Given the description of an element on the screen output the (x, y) to click on. 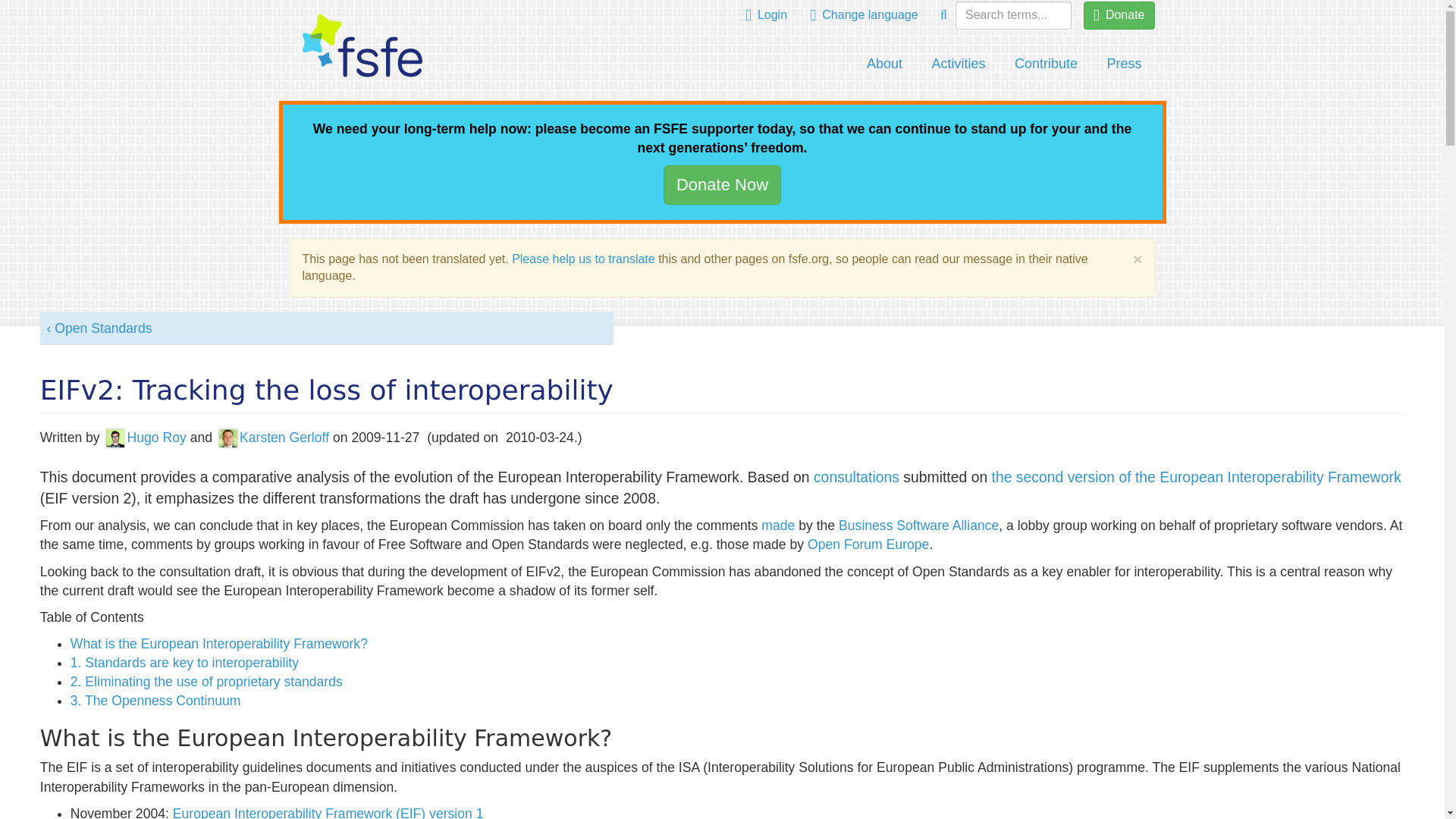
Karsten Gerloff (272, 436)
2. Eliminating the use of proprietary standards (205, 681)
About (884, 63)
made (777, 525)
Hugo Roy (144, 436)
1. Standards are key to interoperability (183, 662)
Activities (958, 63)
Press (1123, 63)
What is the European Interoperability Framework? (218, 643)
Open Forum Europe (868, 544)
Business Software Alliance (918, 525)
consultations (856, 476)
Please help us to translate (583, 257)
3. The Openness Continuum (155, 700)
Login (765, 15)
